Given the description of an element on the screen output the (x, y) to click on. 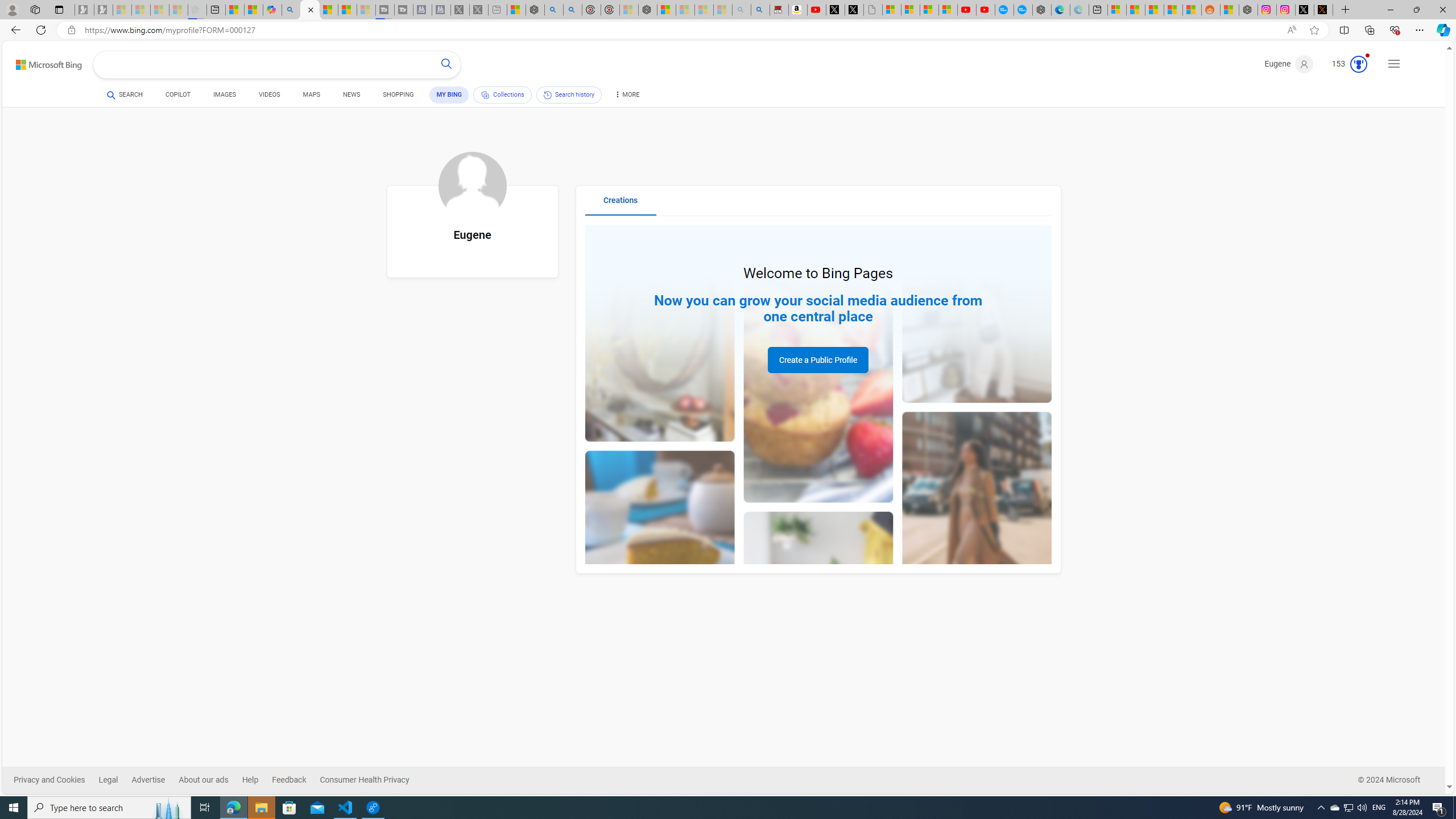
SEARCH (124, 94)
Privacy and Cookies (49, 779)
Search button (446, 64)
poe ++ standard - Search (572, 9)
Advertise (155, 780)
Help (256, 780)
VIDEOS (268, 94)
Gloom - YouTube (966, 9)
Microsoft account | Microsoft Account Privacy Settings (1116, 9)
CollectionsSearch history (537, 96)
